Given the description of an element on the screen output the (x, y) to click on. 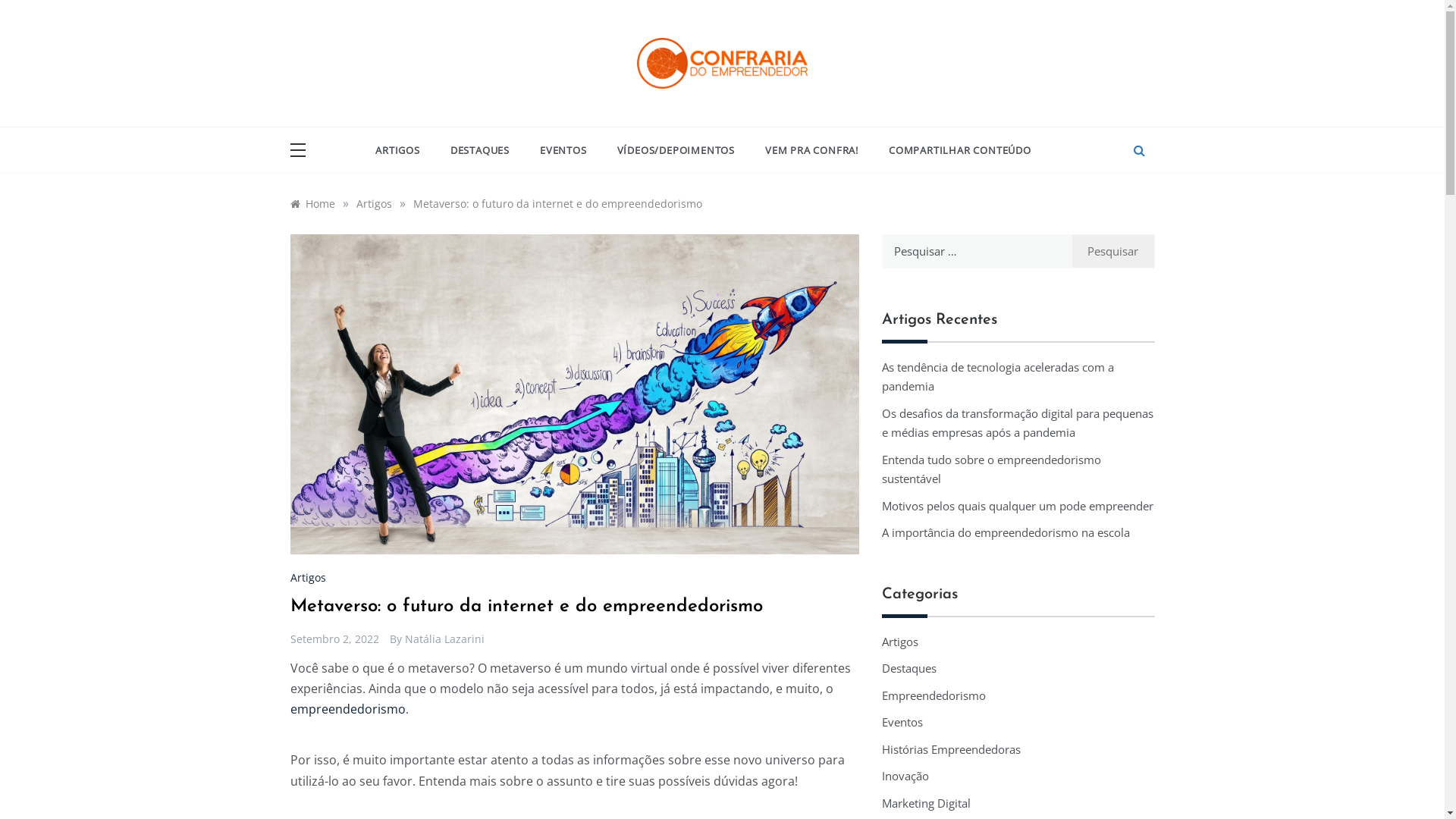
Artigos Element type: text (309, 577)
Marketing Digital Element type: text (925, 803)
empreendedorismo Element type: text (346, 708)
ARTIGOS Element type: text (405, 149)
Motivos pelos quais qualquer um pode empreender Element type: text (1016, 505)
DESTAQUES Element type: text (479, 149)
Artigos Element type: text (899, 642)
Pesquisar Element type: text (1112, 251)
Artigos Element type: text (374, 203)
Setembro 2, 2022 Element type: text (333, 638)
Home Element type: text (311, 203)
EVENTOS Element type: text (563, 149)
Eventos Element type: text (901, 722)
VEM PRA CONFRA! Element type: text (811, 149)
Destaques Element type: text (908, 668)
Metaverso: o futuro da internet e do empreendedorismo Element type: text (556, 203)
Empreendedorismo Element type: text (933, 696)
